Given the description of an element on the screen output the (x, y) to click on. 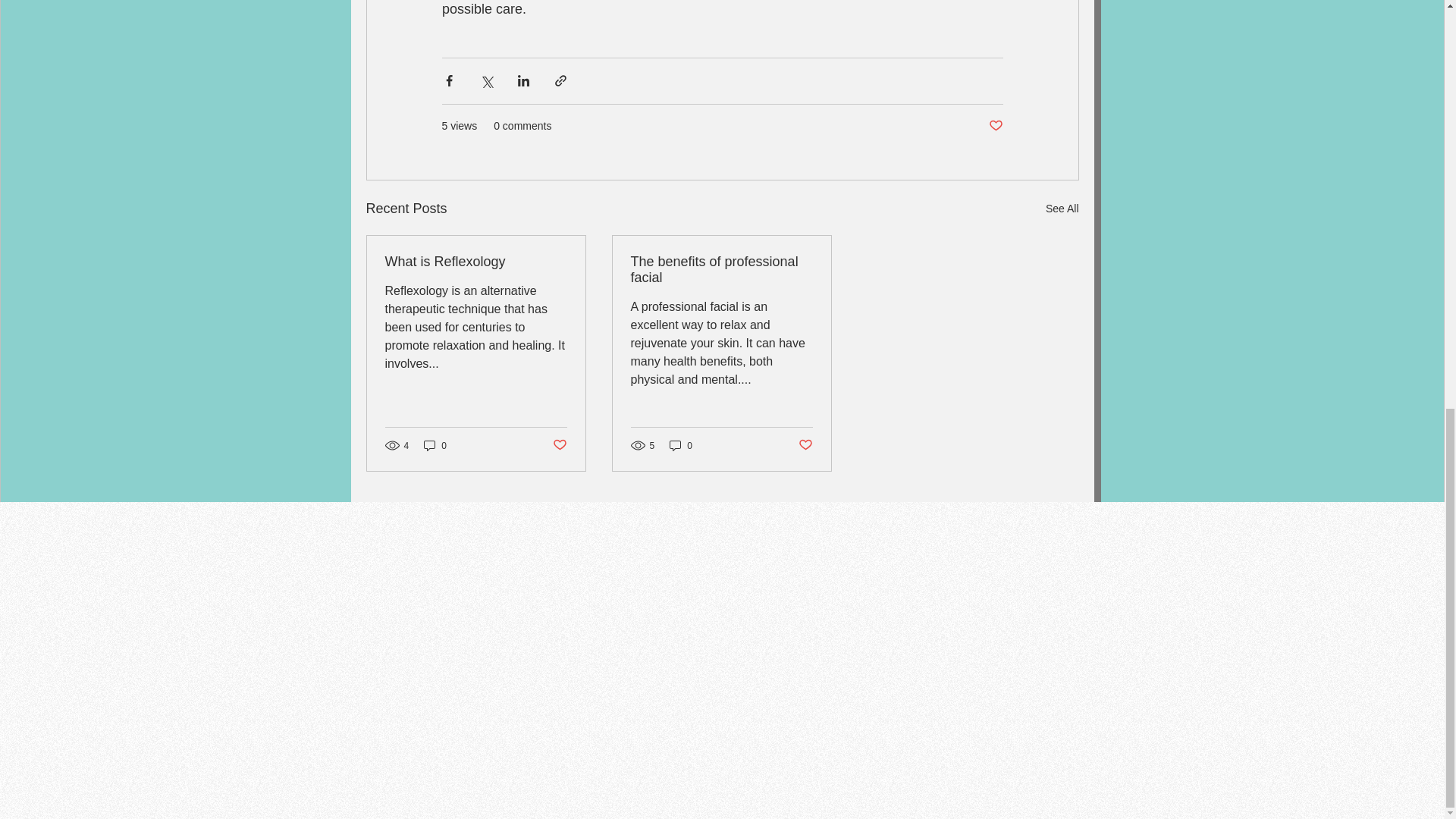
Post not marked as liked (995, 125)
Post not marked as liked (558, 445)
0 (681, 445)
The benefits of professional facial (721, 269)
See All (1061, 209)
0 (435, 445)
Post not marked as liked (804, 445)
What is Reflexology (476, 261)
